Given the description of an element on the screen output the (x, y) to click on. 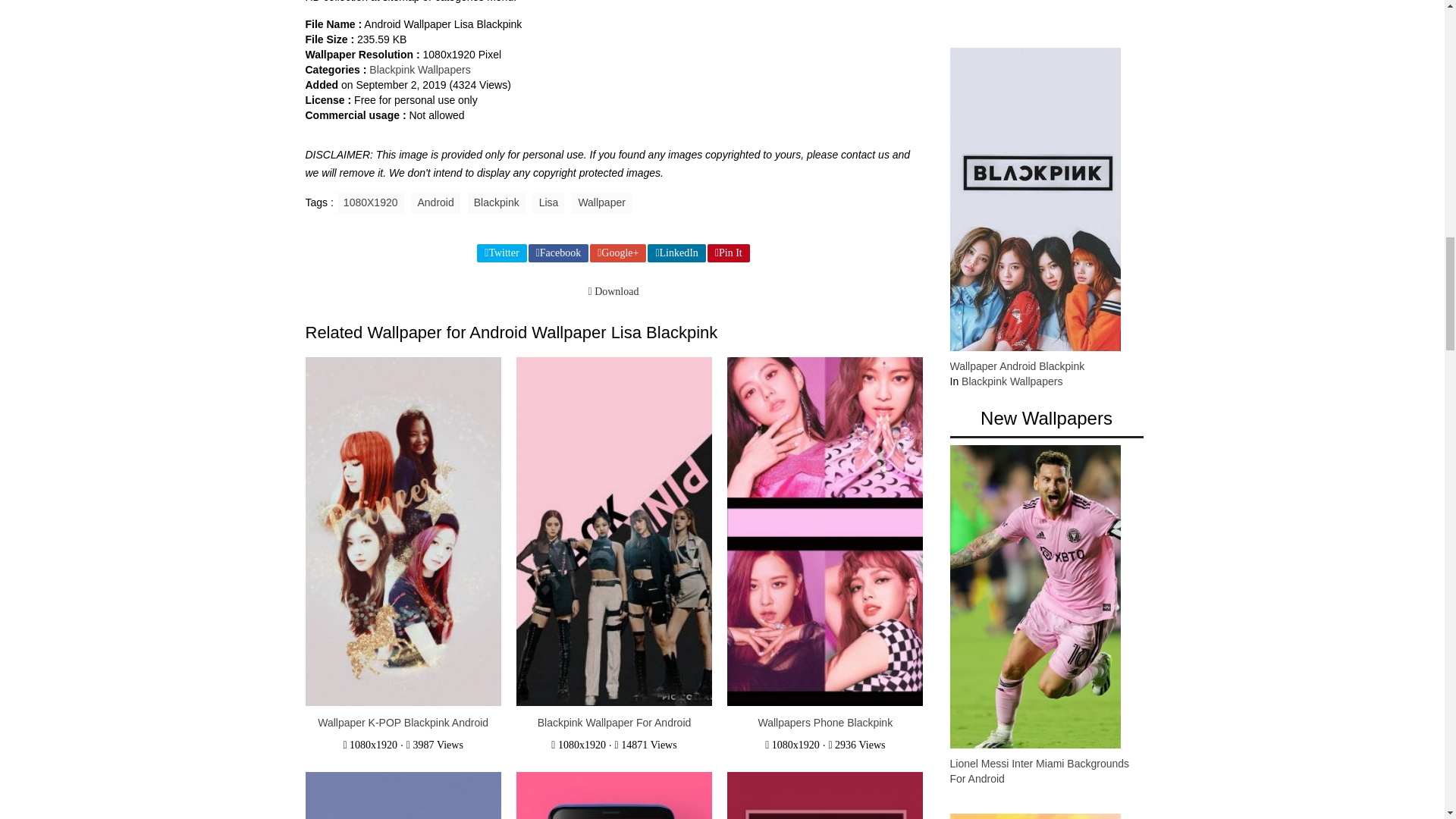
1080X1920 (370, 202)
Facebook (558, 253)
Wallpaper K-POP Blackpink Android (402, 722)
Android (435, 202)
Blackpink Wallpaper For Android (614, 722)
Wallpapers Phone Blackpink (824, 532)
Twitter (501, 253)
Blackpink (496, 202)
Blackpink Wallpaper For Android (614, 722)
Download (613, 291)
Lisa (548, 202)
Pin It (728, 253)
Blackpink Wallpaper For Android (613, 532)
LinkedIn (675, 253)
Wallpaper K-POP Blackpink Android (402, 532)
